Given the description of an element on the screen output the (x, y) to click on. 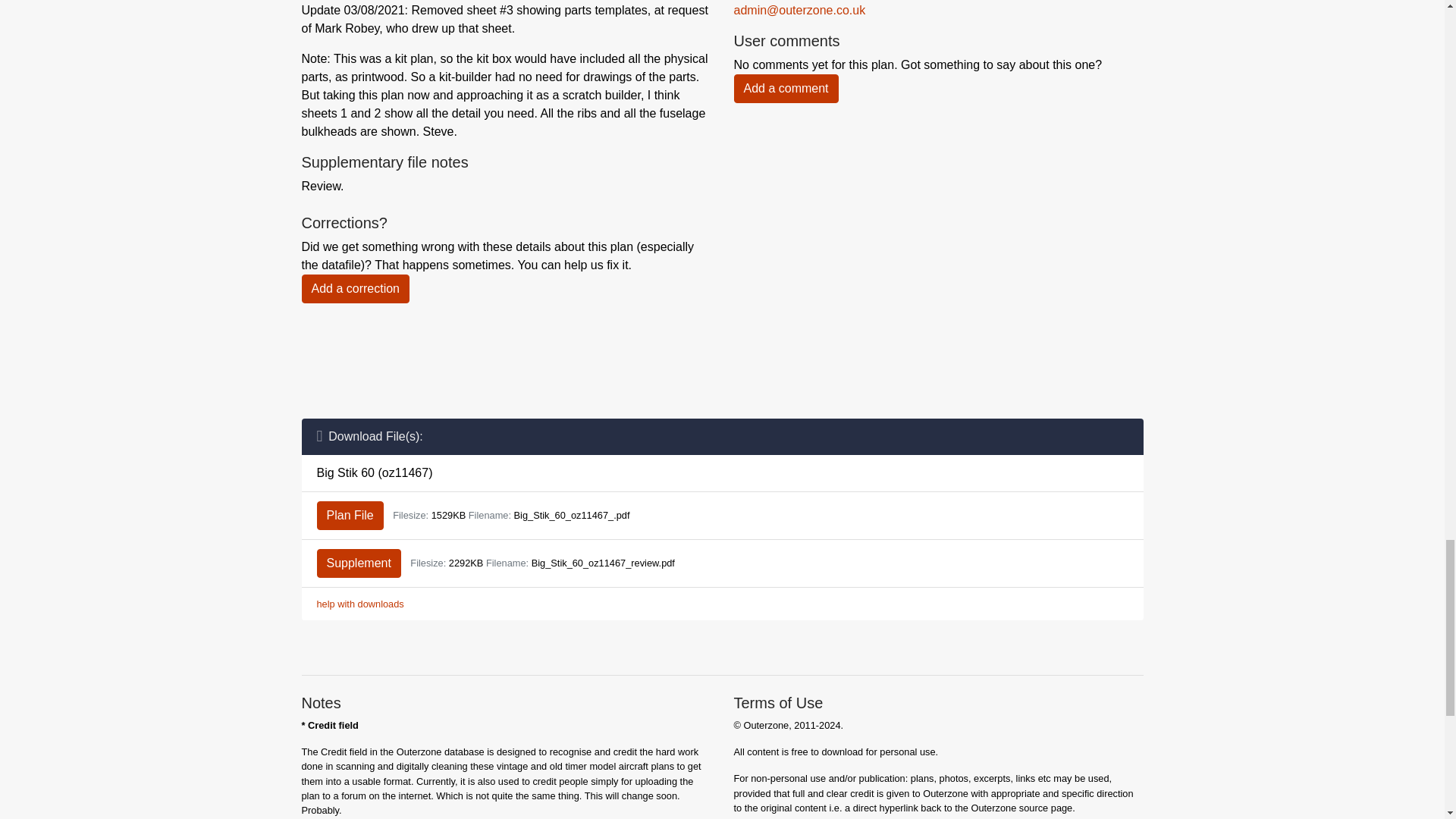
Plan File (350, 515)
Add a correction (355, 288)
Add a comment (785, 88)
